Given the description of an element on the screen output the (x, y) to click on. 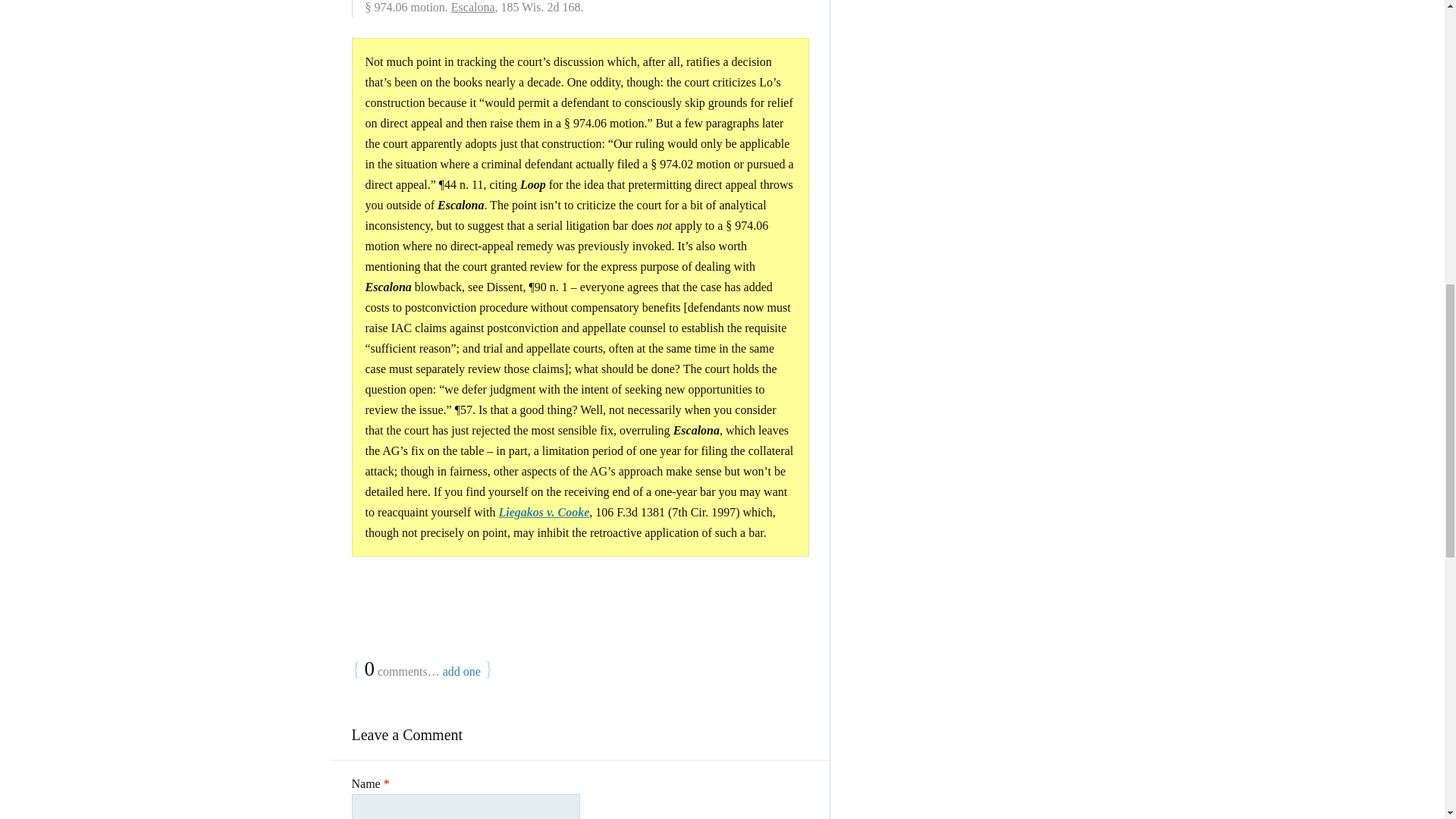
Liegakos v. Cooke (543, 512)
add one (461, 671)
